Given the description of an element on the screen output the (x, y) to click on. 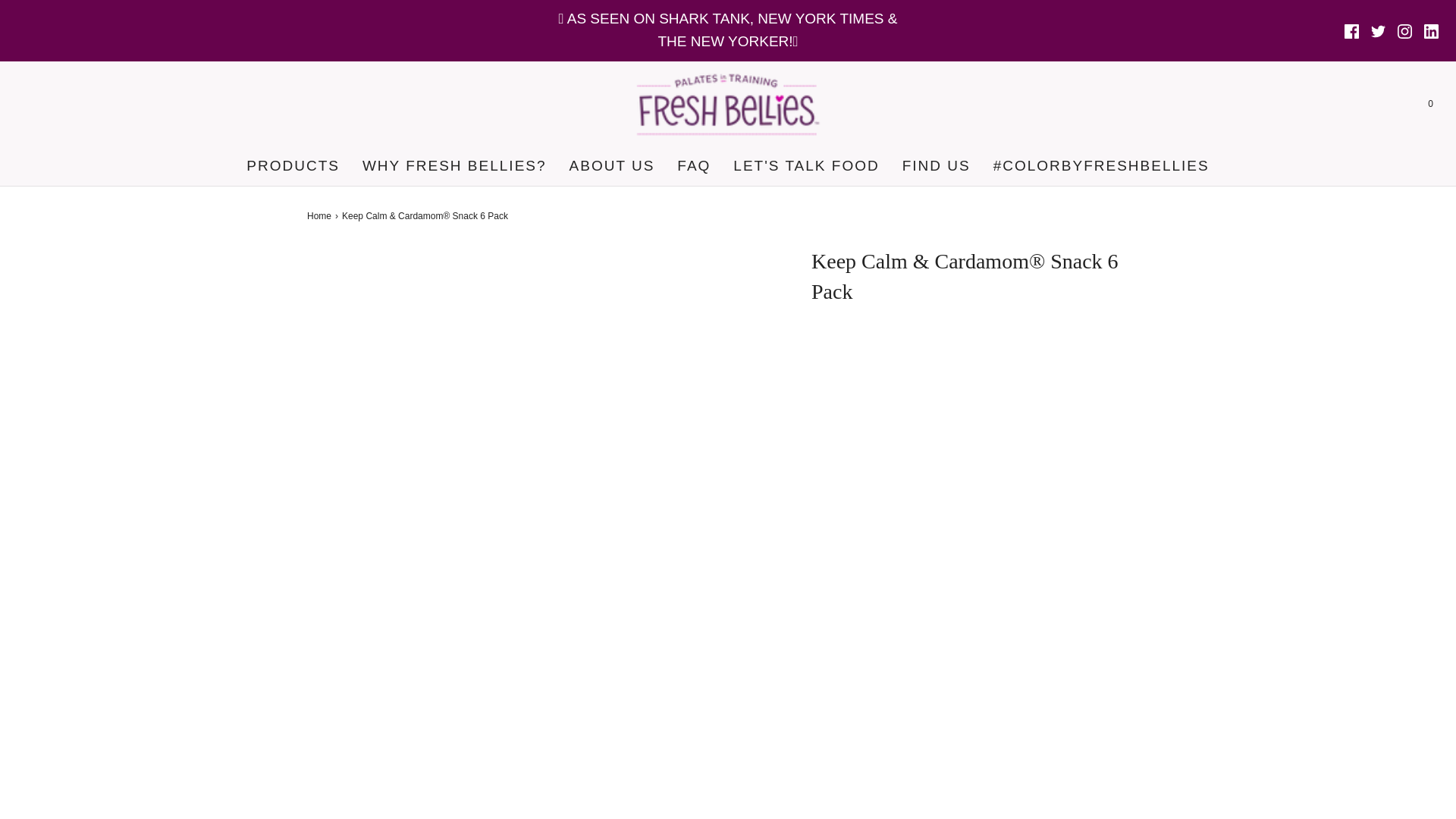
Back to the frontpage (320, 216)
LinkedIn icon (1430, 31)
Instagram icon (1404, 31)
Facebook icon (1350, 31)
Facebook icon (1350, 31)
0 (1430, 104)
Cart (1430, 104)
Twitter icon (1378, 31)
LinkedIn icon (1430, 31)
Instagram icon (1404, 31)
Twitter icon (1378, 31)
